Given the description of an element on the screen output the (x, y) to click on. 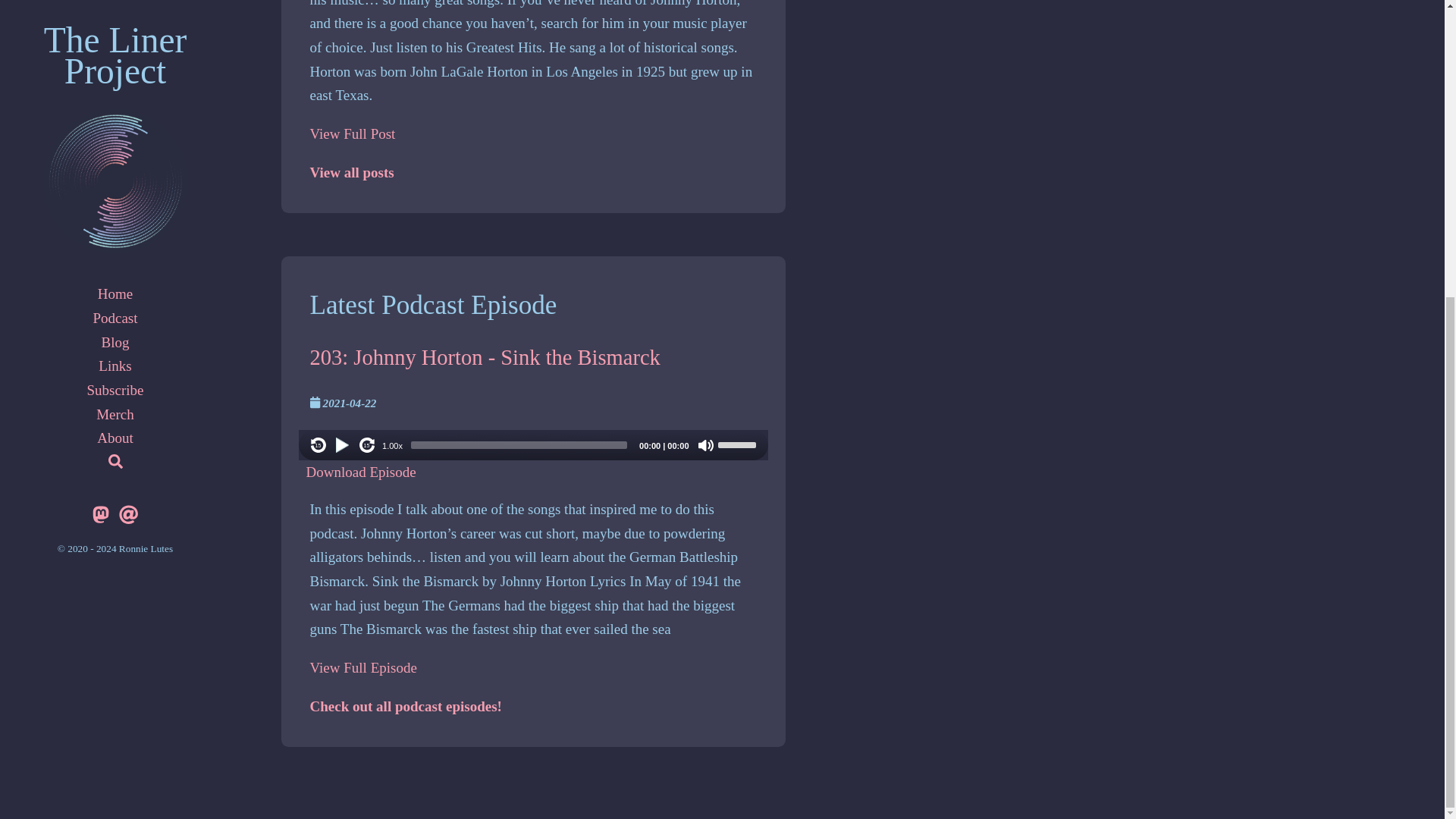
Check out all podcast episodes! (404, 706)
Mute (705, 444)
Download Episode (360, 471)
View Full Episode (362, 667)
1.00x (392, 445)
Jump forward 15 seconds (366, 444)
View all posts (350, 172)
Email (128, 54)
Email (128, 54)
Skip back 15 seconds (318, 444)
